Given the description of an element on the screen output the (x, y) to click on. 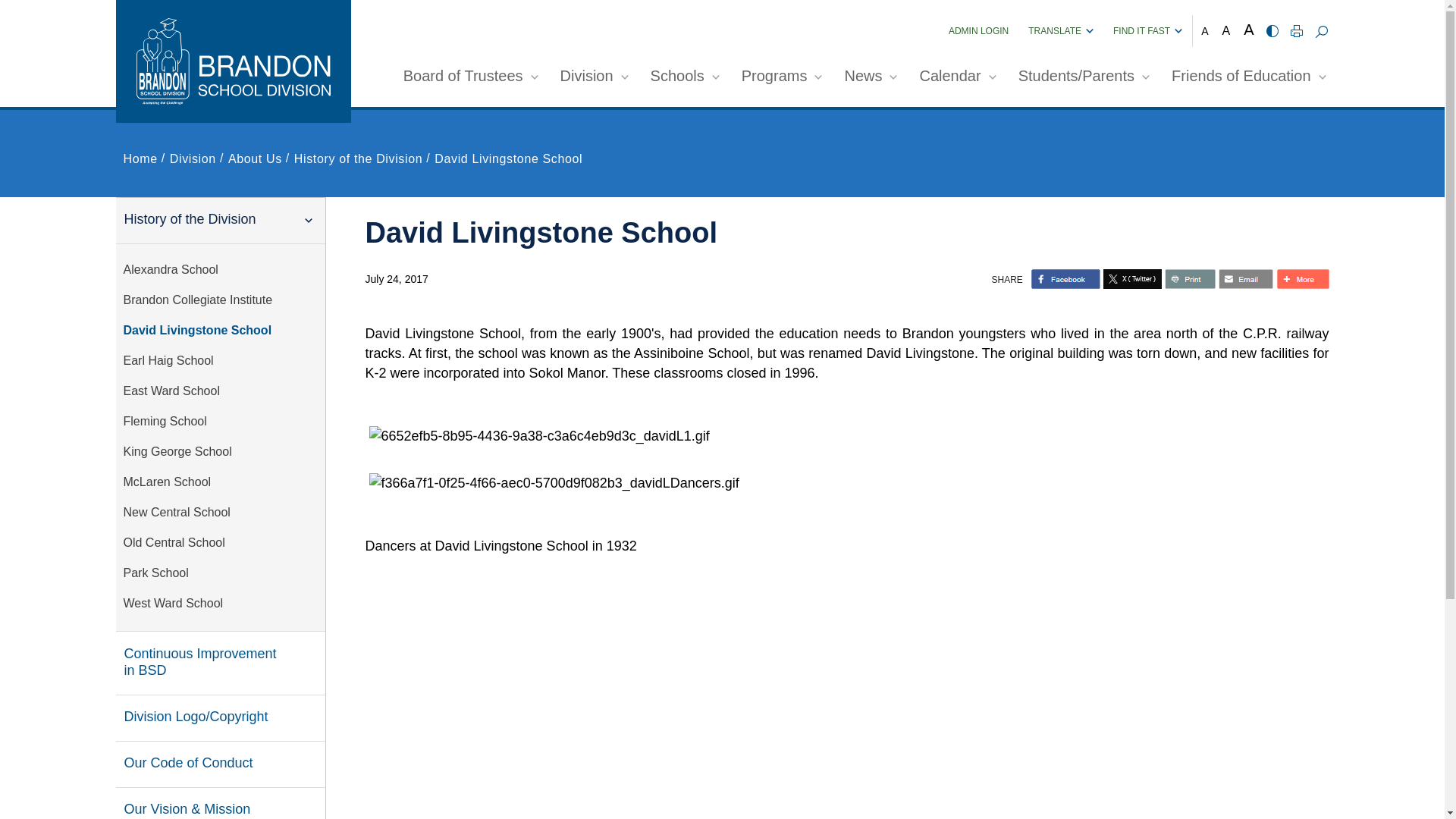
TRANSLATE (1060, 30)
ADMIN LOGIN (978, 30)
